Given the description of an element on the screen output the (x, y) to click on. 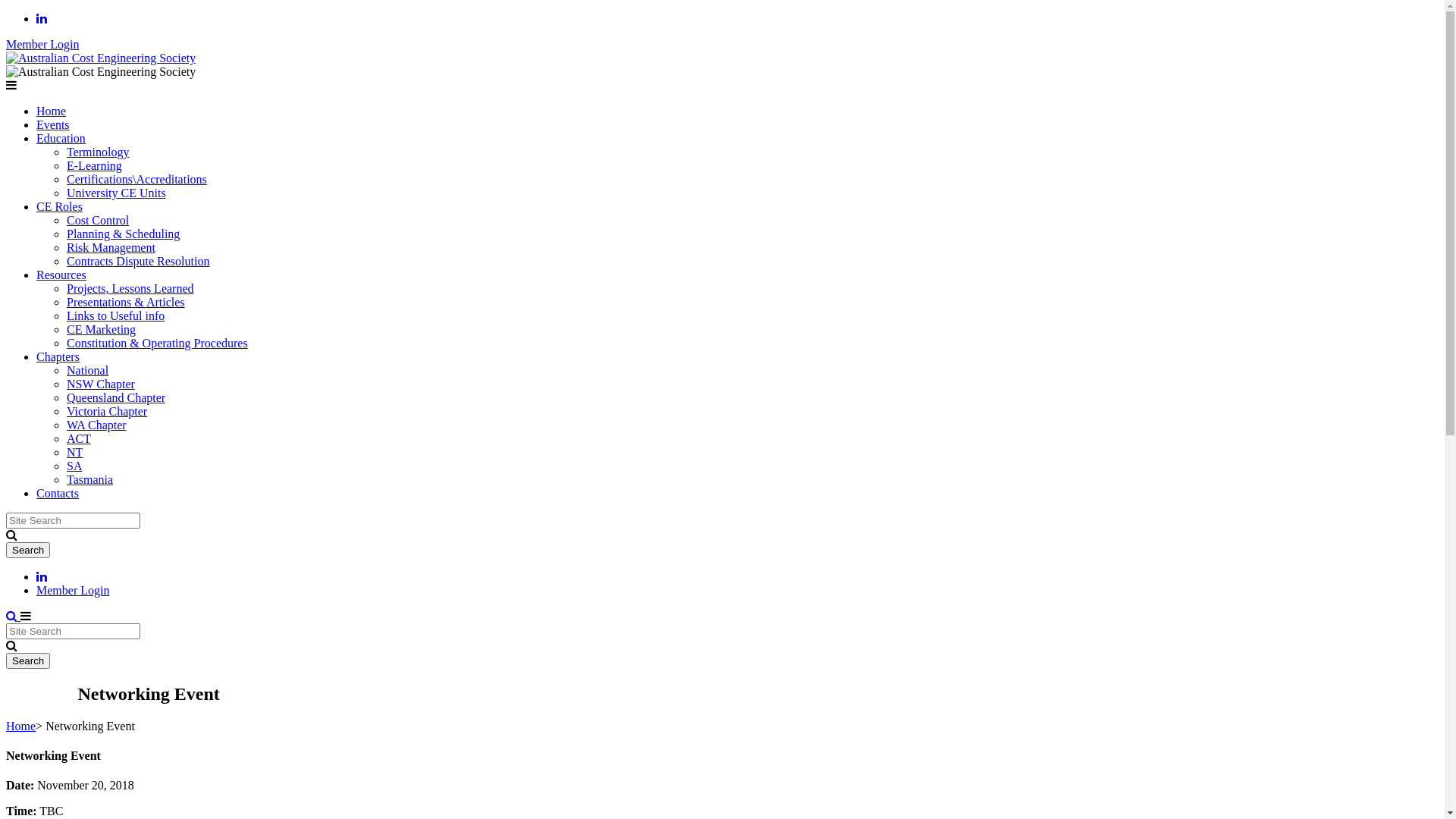
Skip to content Element type: text (5, 11)
Certifications\Accreditations Element type: text (136, 178)
Search Element type: text (28, 550)
Resources Element type: text (61, 274)
NT Element type: text (74, 451)
Risk Management Element type: text (110, 247)
Presentations & Articles Element type: text (125, 301)
WA Chapter Element type: text (96, 424)
Contracts Dispute Resolution Element type: text (137, 260)
Member Login Element type: text (72, 589)
Links to Useful info Element type: text (115, 315)
Terminology Element type: text (97, 151)
CE Marketing Element type: text (100, 329)
Home Element type: text (20, 725)
Victoria Chapter Element type: text (106, 410)
University CE Units Element type: text (116, 192)
NSW Chapter Element type: text (100, 383)
National Element type: text (87, 370)
Chapters Element type: text (57, 356)
Tasmania Element type: text (89, 479)
Planning & Scheduling Element type: text (122, 233)
Contacts Element type: text (57, 492)
ACT Element type: text (78, 438)
Search Element type: text (28, 660)
Home Element type: text (50, 110)
E-Learning Element type: text (94, 165)
Events Element type: text (52, 124)
Education Element type: text (60, 137)
CE Roles Element type: text (59, 206)
Cost Control Element type: text (97, 219)
Search for: Element type: hover (73, 520)
Queensland Chapter Element type: text (115, 397)
Constitution & Operating Procedures Element type: text (156, 342)
Search for: Element type: hover (73, 631)
Member Login Element type: text (42, 43)
Projects, Lessons Learned Element type: text (130, 288)
SA Element type: text (73, 465)
